Given the description of an element on the screen output the (x, y) to click on. 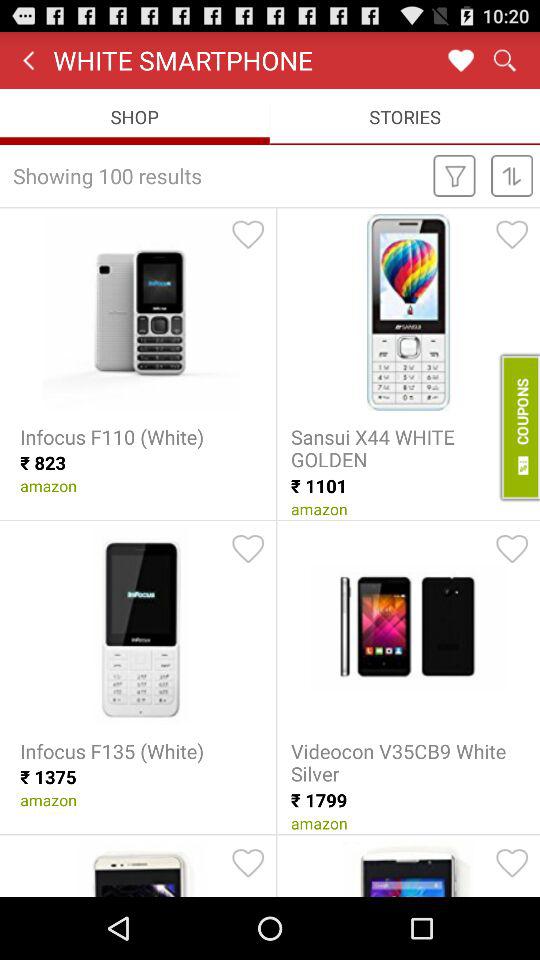
go to favourites (460, 60)
